Given the description of an element on the screen output the (x, y) to click on. 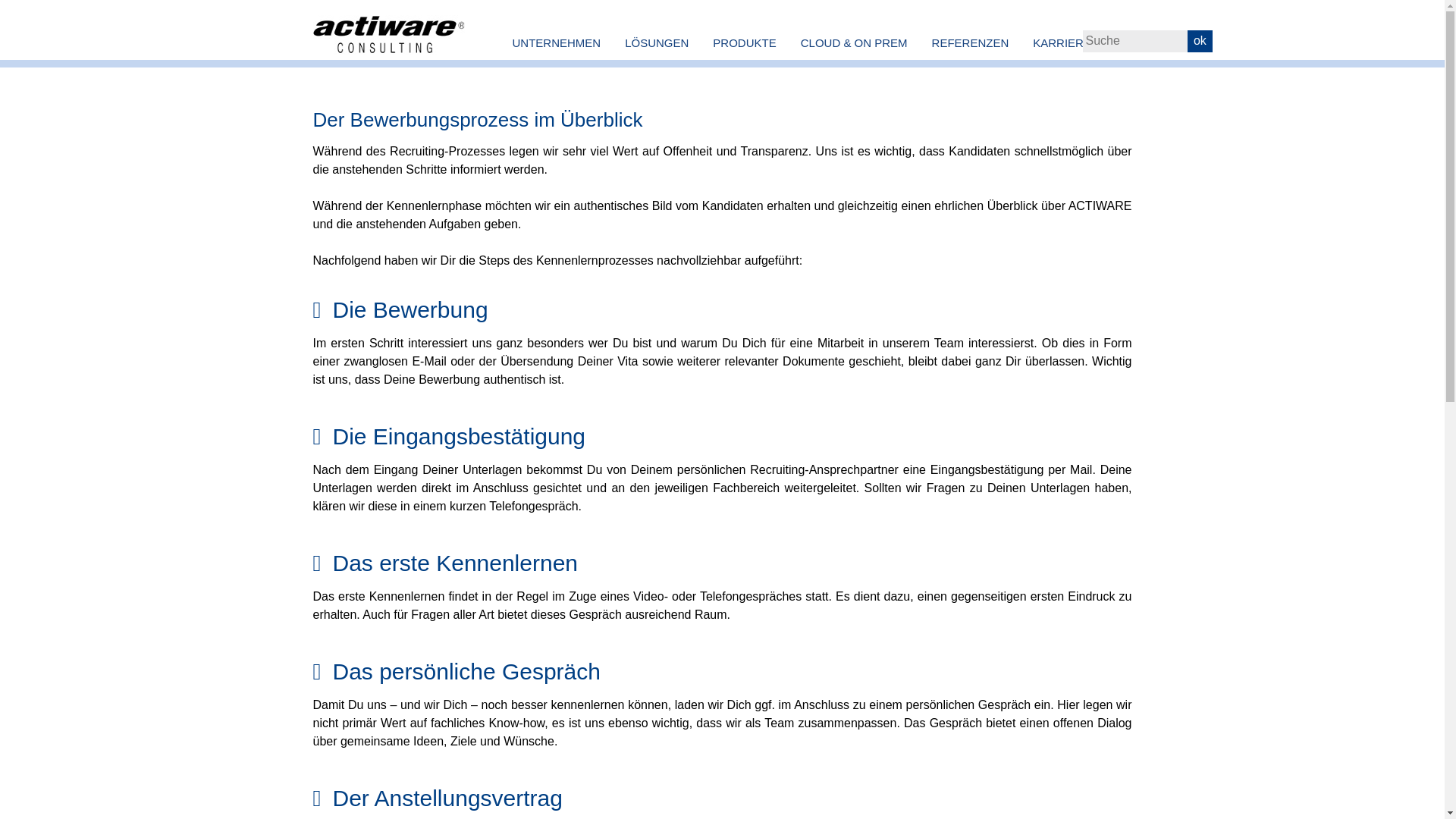
CLOUD & ON PREM Element type: text (853, 42)
KARRIERE Element type: text (1061, 42)
ok Element type: text (1199, 41)
UNTERNEHMEN Element type: text (556, 42)
PRODUKTE Element type: text (743, 42)
REFERENZEN Element type: text (970, 42)
